Given the description of an element on the screen output the (x, y) to click on. 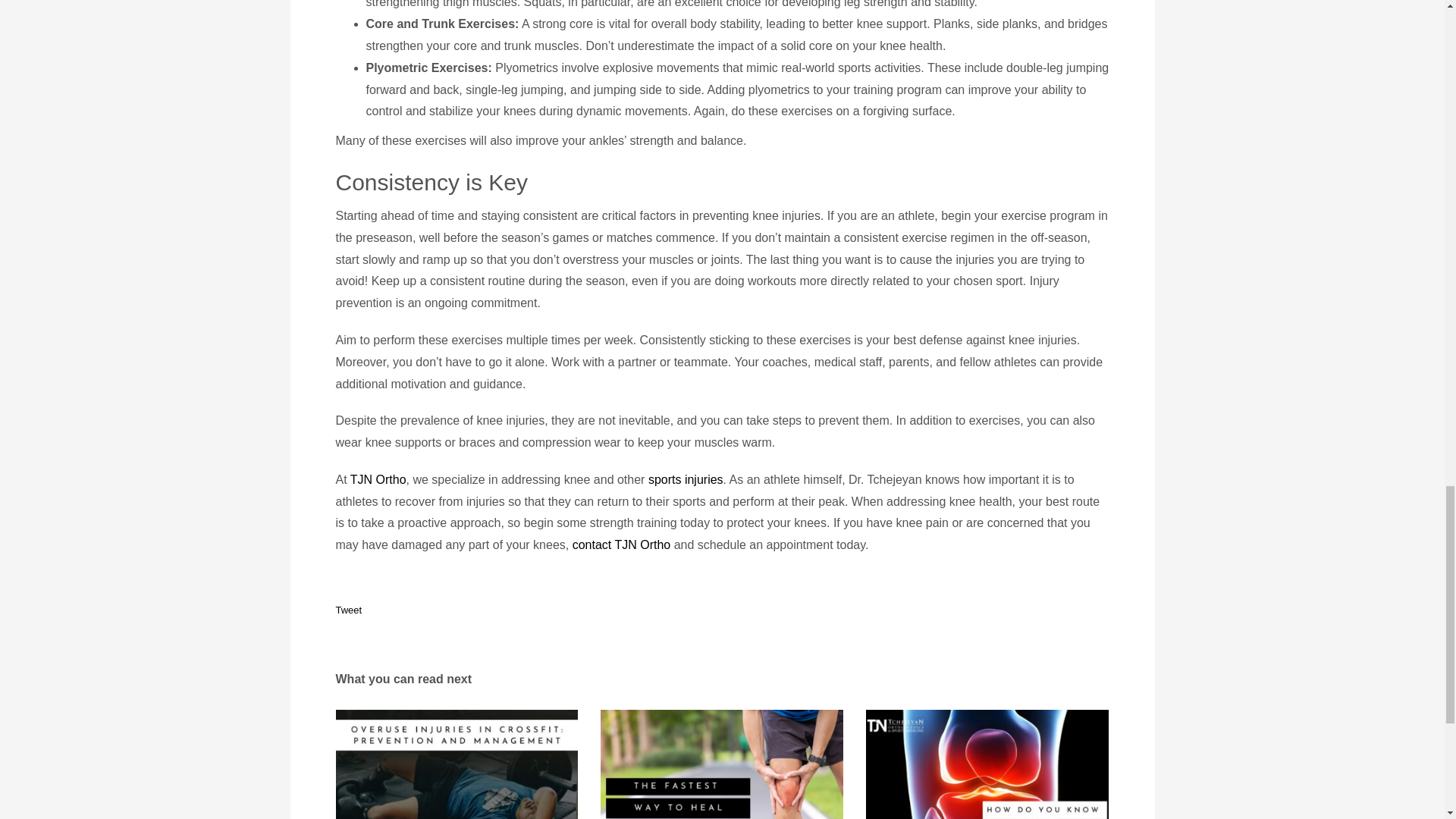
the fastest way to ehal patellar tendonitis (721, 764)
Overuse Injuries in CrossFit- Prevention and Management (456, 764)
TJN Ortho Torn Meniscus (987, 764)
